Given the description of an element on the screen output the (x, y) to click on. 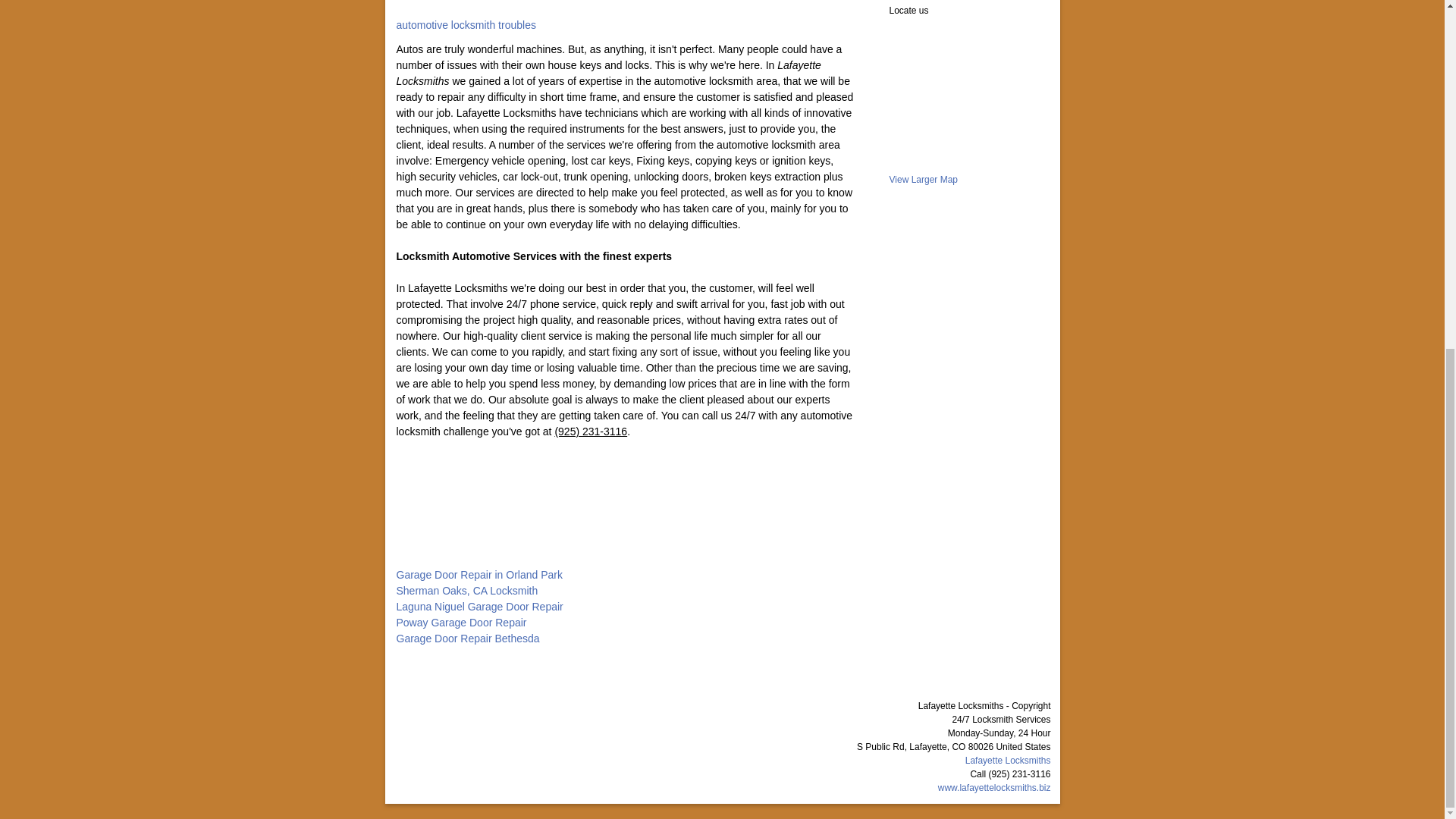
Sherman Oaks, CA Locksmith (466, 590)
Garage Door Repair in Orland Park (479, 574)
Lafayette Locksmiths (1008, 760)
Poway Garage Door Repair (460, 622)
Garage Door Repair Bethesda (467, 638)
Garage Door Repair Bethesda (467, 638)
Laguna Niguel Garage Door Repair (479, 606)
Garage Door Repair in Orland Park (479, 574)
www.lafayettelocksmiths.biz (994, 787)
Poway Garage Door Repair (460, 622)
Sherman Oaks, CA Locksmith (466, 590)
Laguna Niguel Garage Door Repair (479, 606)
View Larger Map of Lafayette, CA (923, 179)
View Larger Map (923, 179)
